Given the description of an element on the screen output the (x, y) to click on. 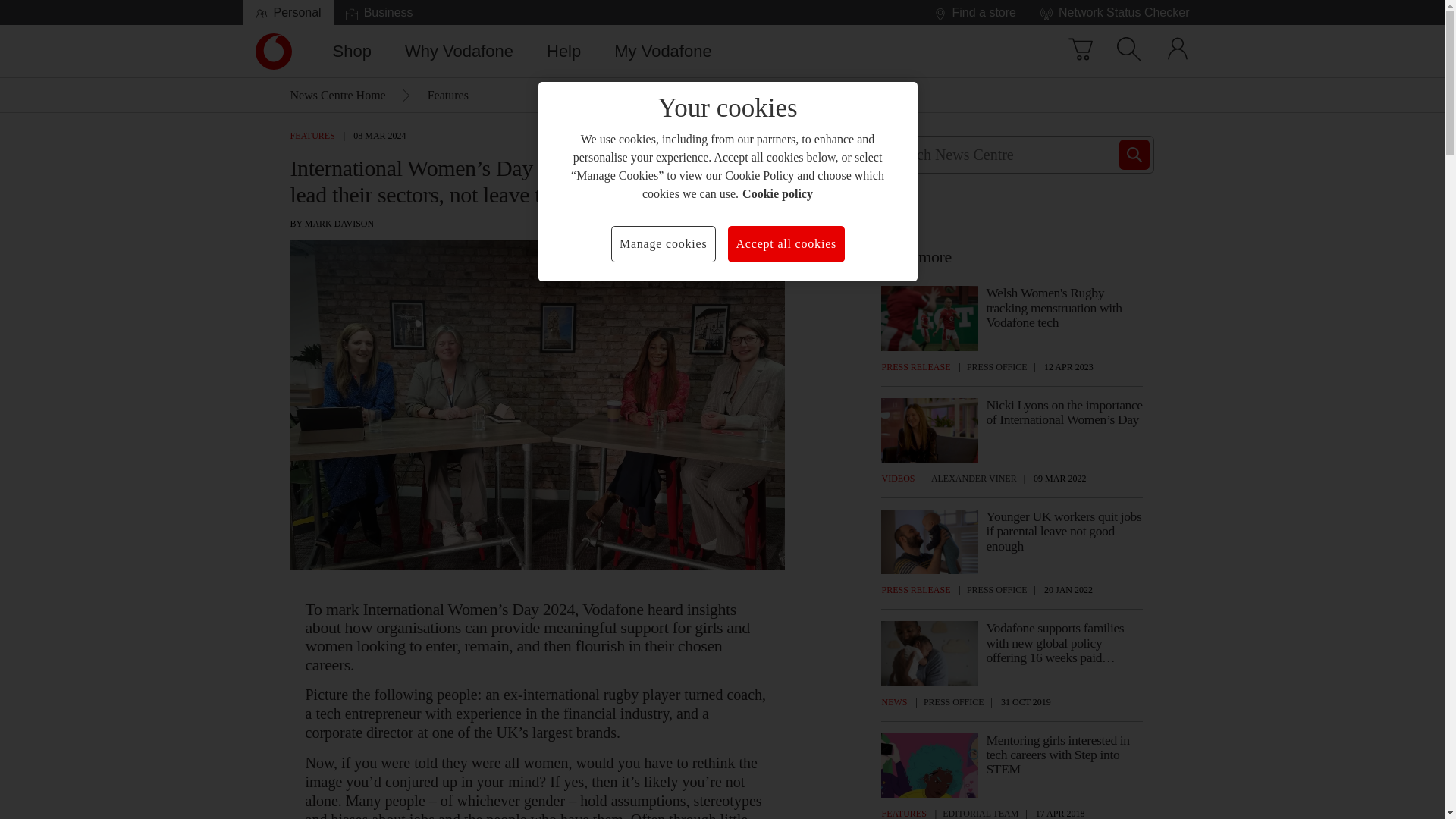
Features (448, 94)
Step-into-STEM-Media-Centre (929, 765)
Why Vodafone (459, 51)
Business (379, 12)
Network Status Checker (1114, 12)
Help (563, 51)
Find a store (974, 12)
Vodafone's new global parental leave policy. (272, 51)
FEATURES (929, 541)
IWD Panel (312, 133)
Nicki Lyons on IWD (996, 366)
My Vodafone (929, 430)
Welsh Women's Rugby tracking menstruation with Vodafone tech (663, 51)
